Given the description of an element on the screen output the (x, y) to click on. 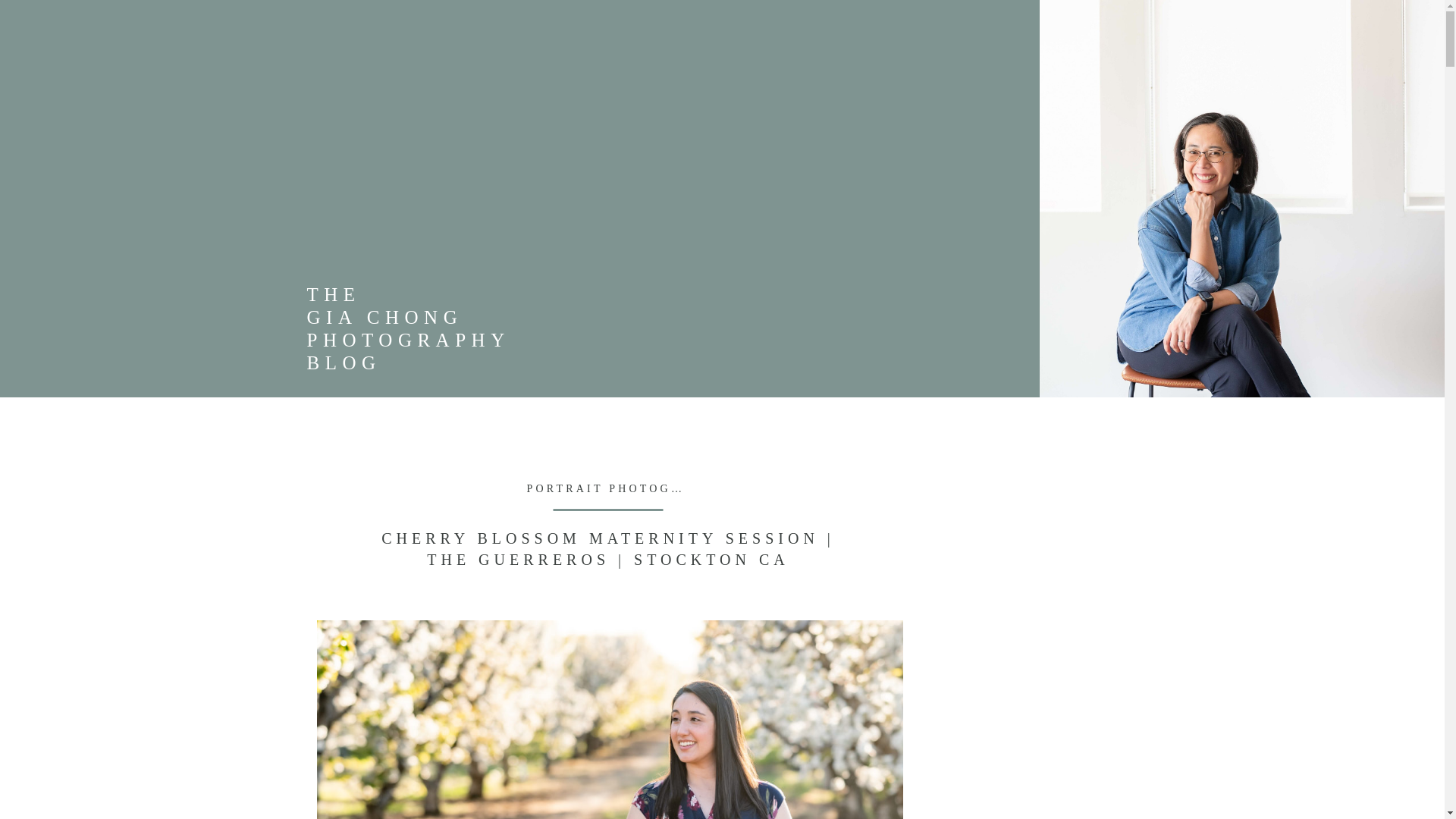
PORTRAIT PHOTOGRAPHY (623, 488)
